Given the description of an element on the screen output the (x, y) to click on. 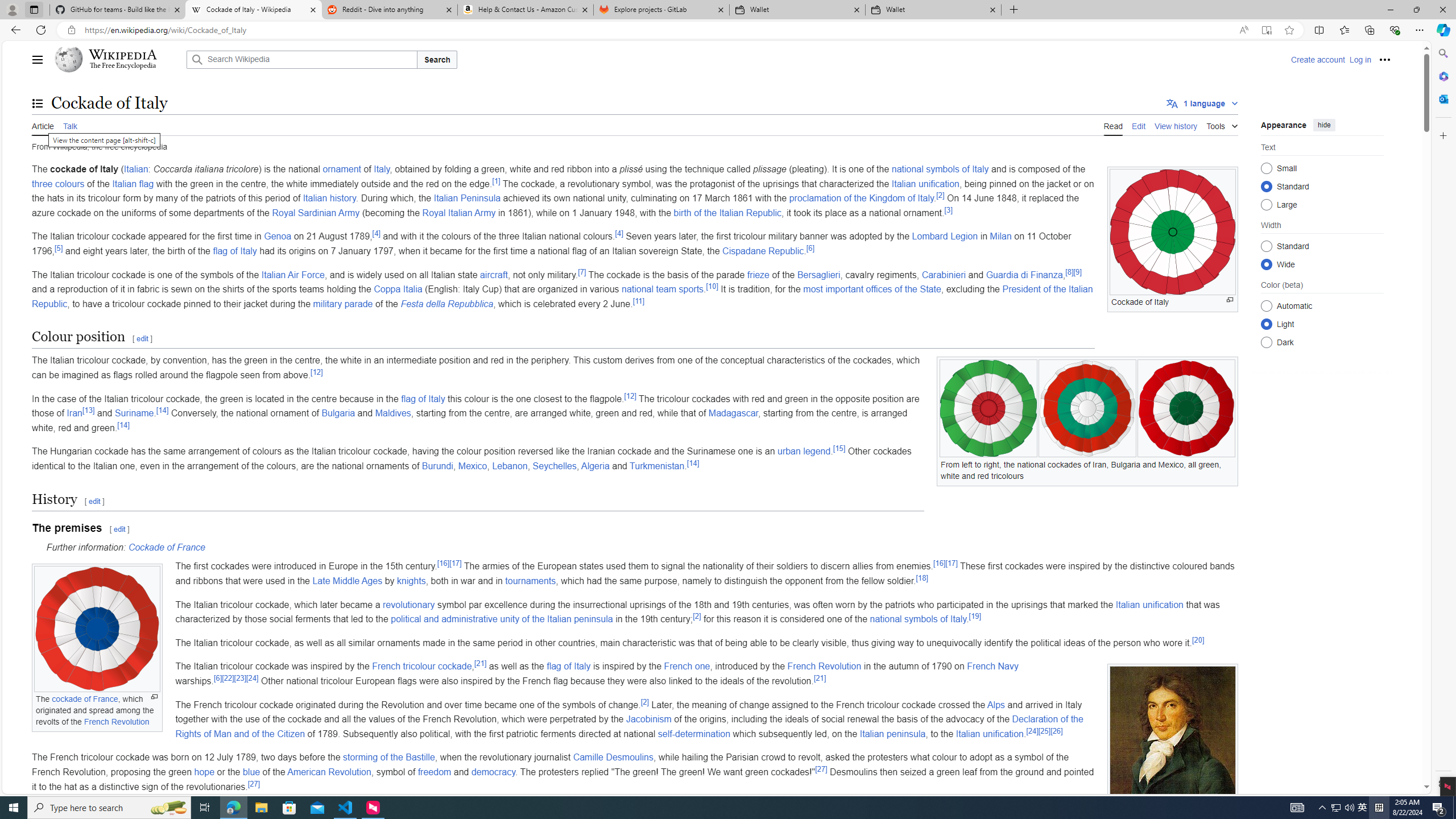
[12] (630, 395)
ornament (341, 169)
[16] (939, 563)
Alps (996, 704)
aircraft (493, 274)
Italian history (329, 198)
Cispadane Republic (762, 250)
Late Middle Ages (346, 580)
cockade of France (84, 699)
